Given the description of an element on the screen output the (x, y) to click on. 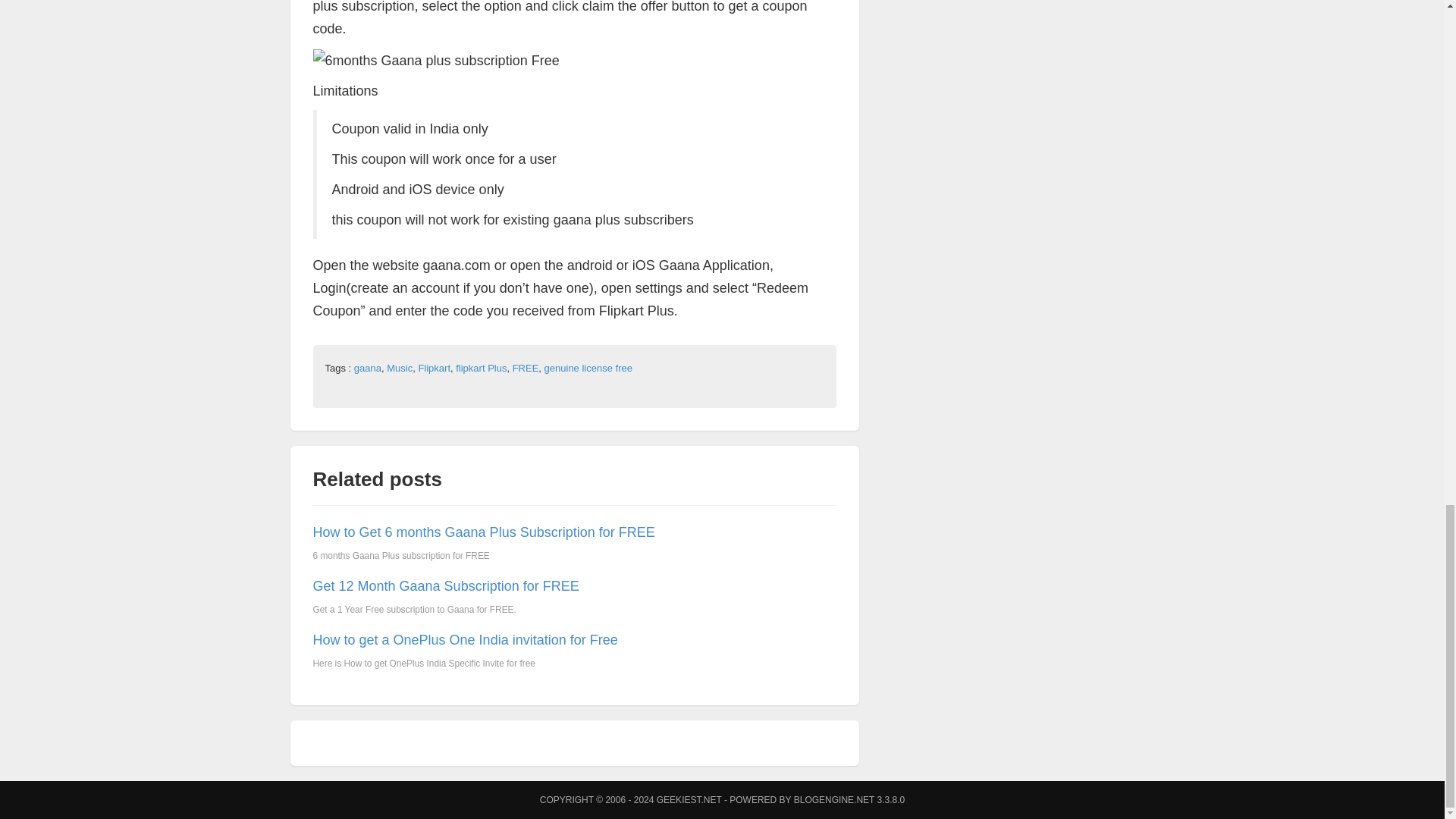
GEEKIEST.NET (689, 799)
Flipkart (433, 367)
How to Get 6 months Gaana Plus Subscription for FREE (483, 531)
FREE (525, 367)
gaana (367, 367)
Get 12 Month Gaana Subscription for FREE (445, 585)
6months Gaana plus subscription Free (436, 59)
Music (399, 367)
genuine license free (587, 367)
flipkart Plus (480, 367)
